Given the description of an element on the screen output the (x, y) to click on. 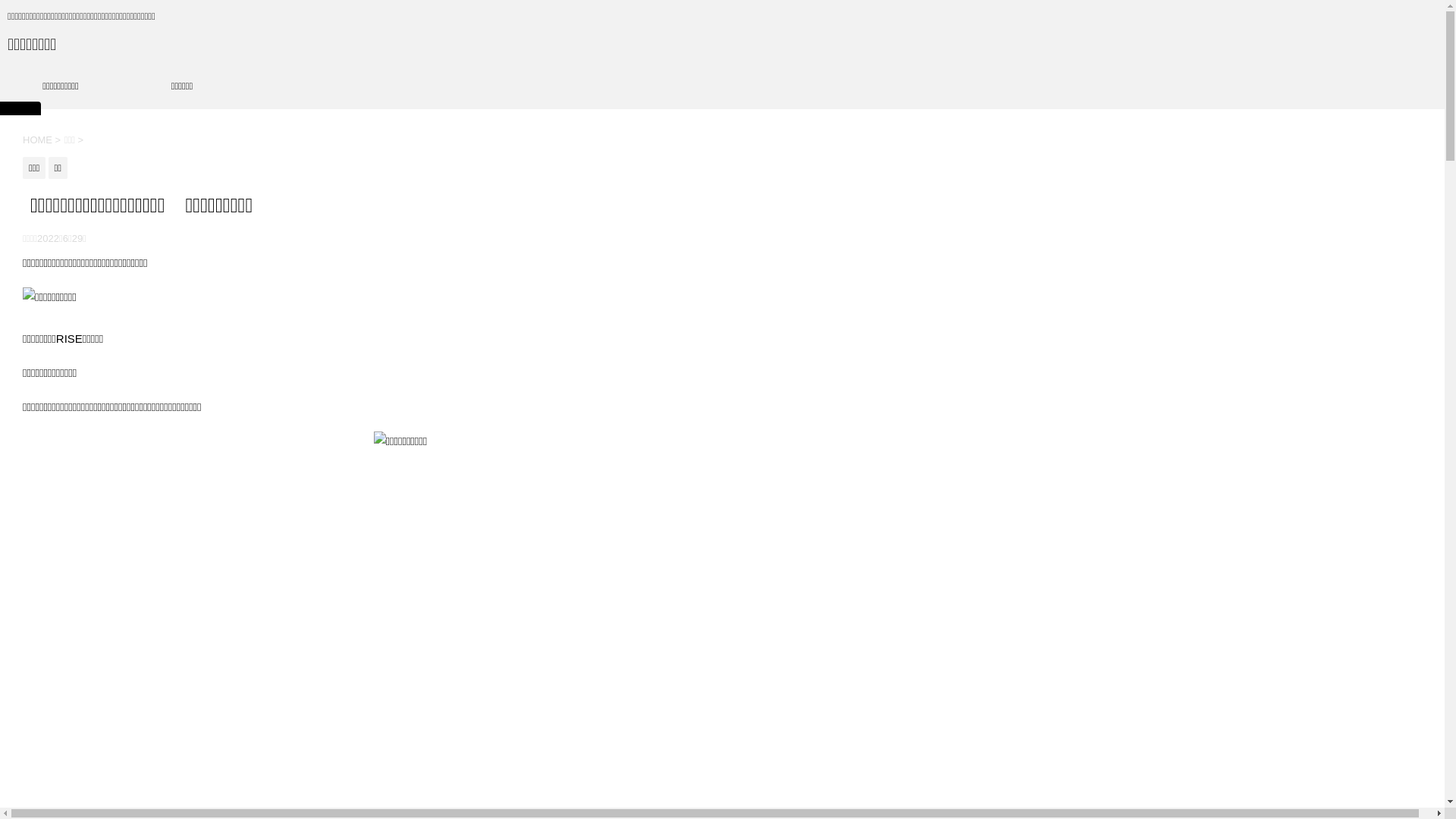
HOME Element type: text (37, 139)
